Given the description of an element on the screen output the (x, y) to click on. 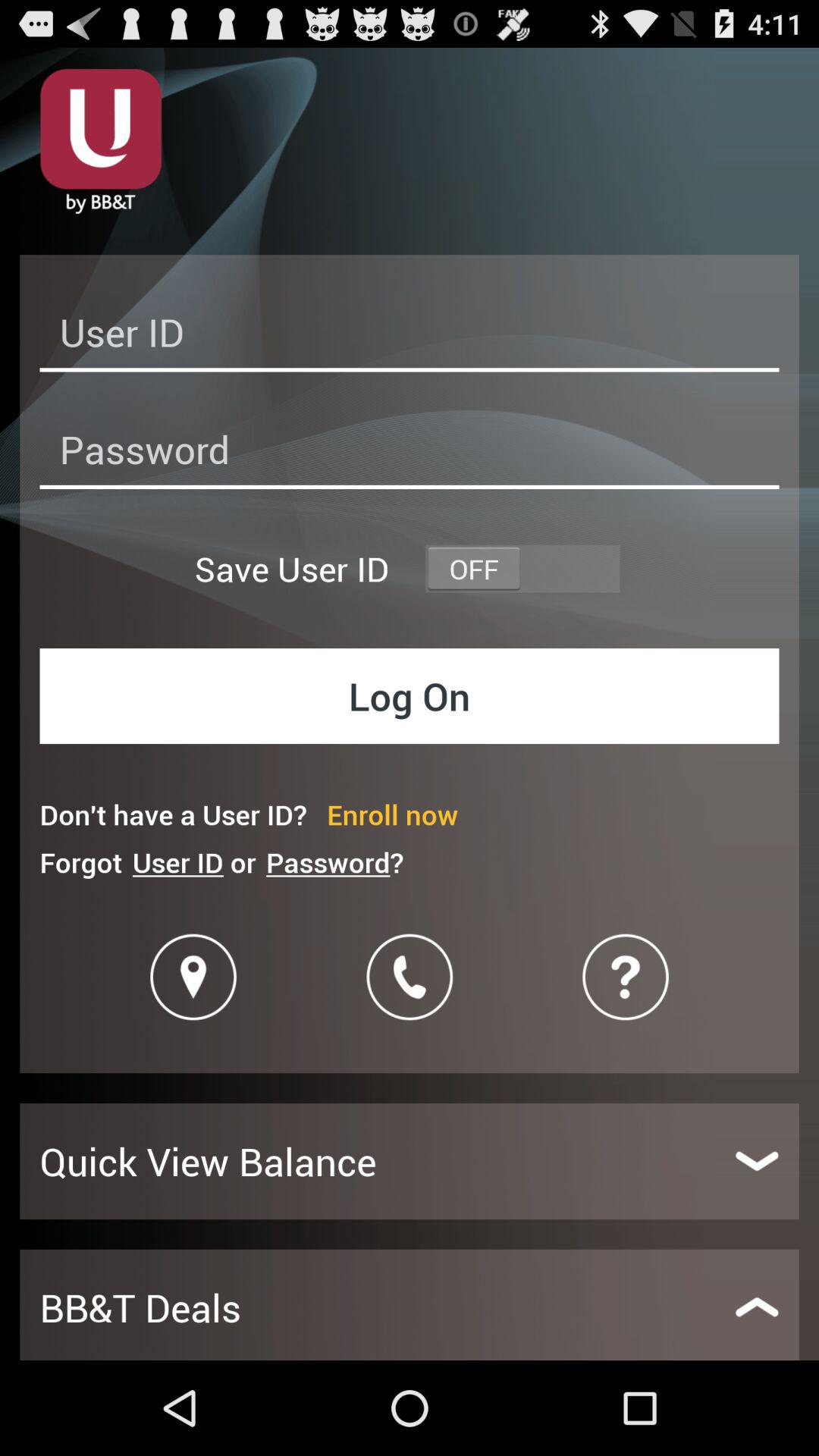
turn on the item to the right of the user id or item (334, 861)
